Given the description of an element on the screen output the (x, y) to click on. 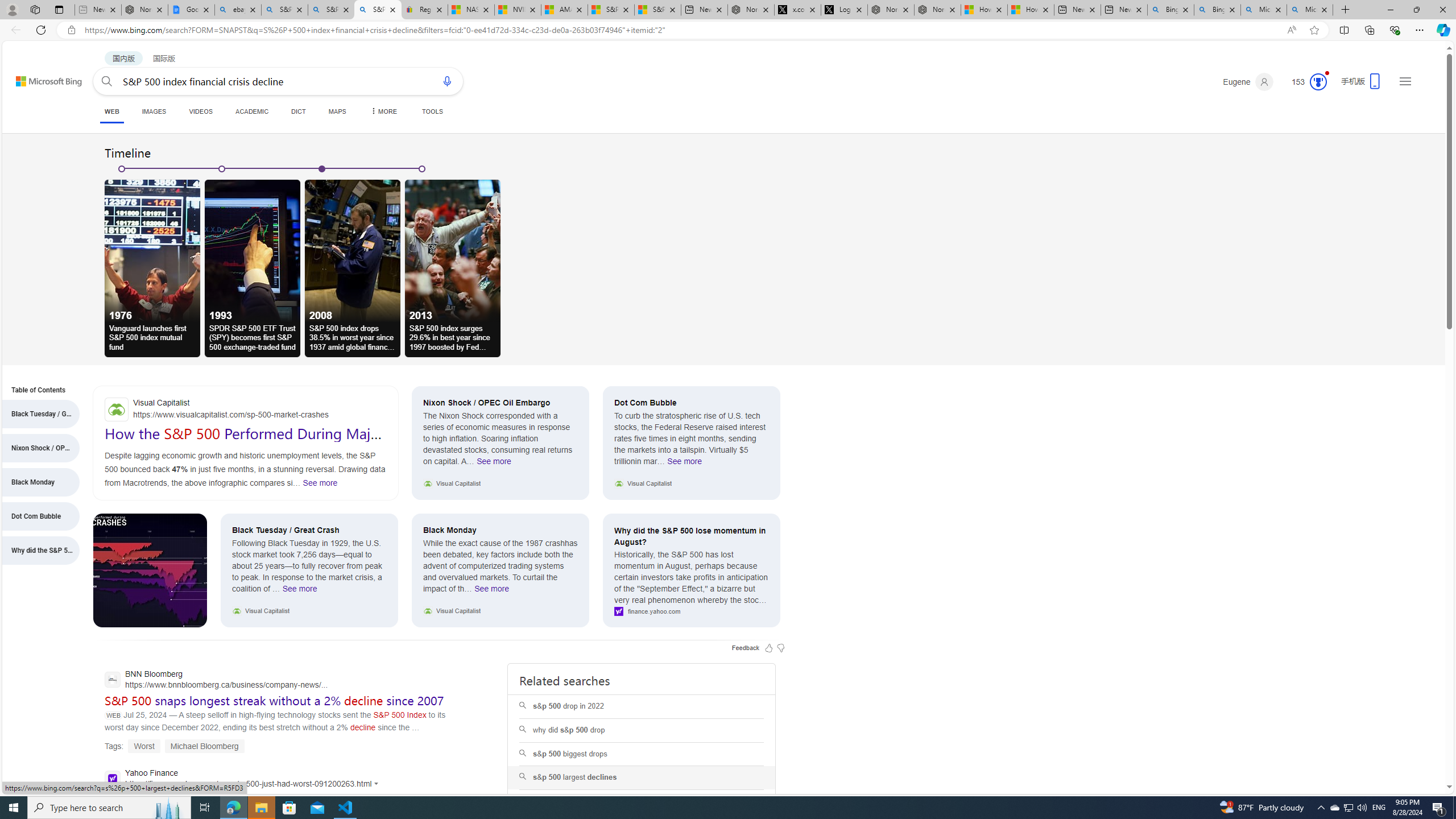
BNN Bloomberg (215, 680)
MORE (382, 111)
ebay - Search (237, 9)
Skip to content (35, 76)
Visual Capitalist (245, 409)
1993 (252, 250)
s&p 500 drop in 2022 (641, 706)
s&p 500 largest declines (641, 777)
why did s&p 500 drop (641, 730)
See more Dot Com Bubble (683, 463)
